Given the description of an element on the screen output the (x, y) to click on. 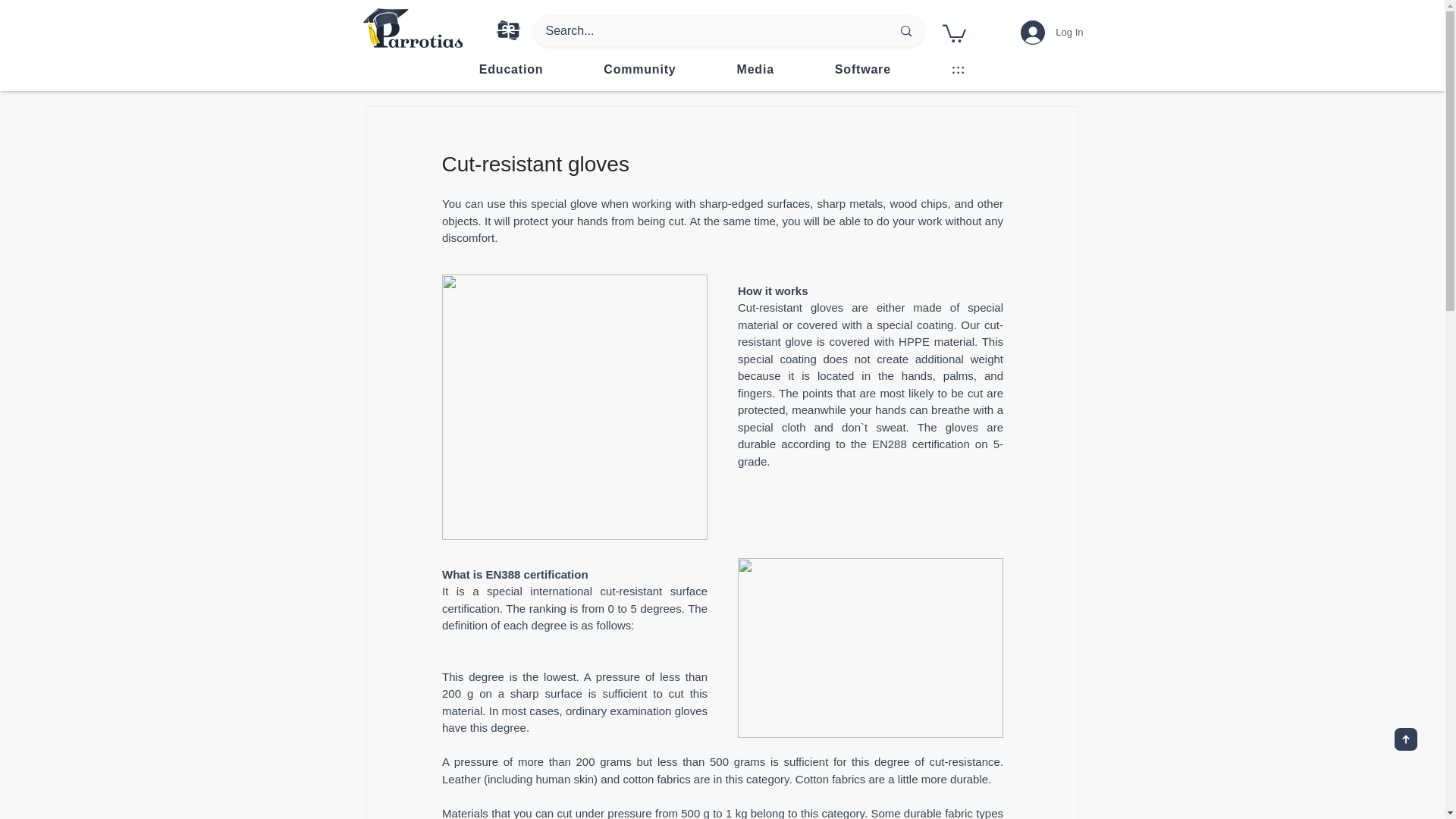
Log In (1051, 32)
Media (755, 69)
Software (721, 69)
Education (862, 69)
Community (511, 69)
